Given the description of an element on the screen output the (x, y) to click on. 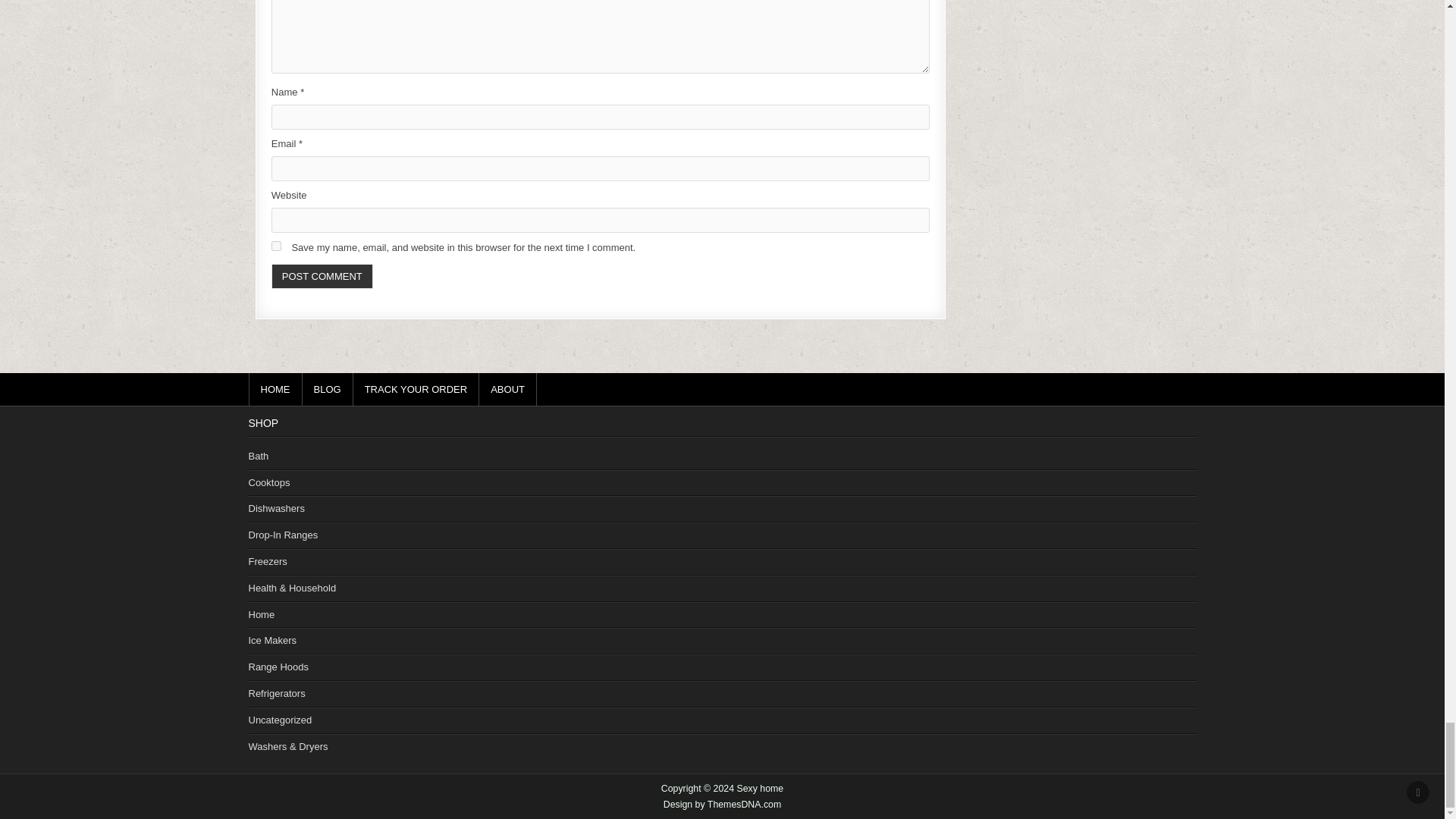
ABOUT (508, 389)
Bath (258, 455)
Cooktops (268, 482)
BLOG (326, 389)
Drop-In Ranges (283, 534)
Freezers (267, 561)
Post Comment (321, 276)
Dishwashers (276, 508)
yes (275, 245)
HOME (275, 389)
